Given the description of an element on the screen output the (x, y) to click on. 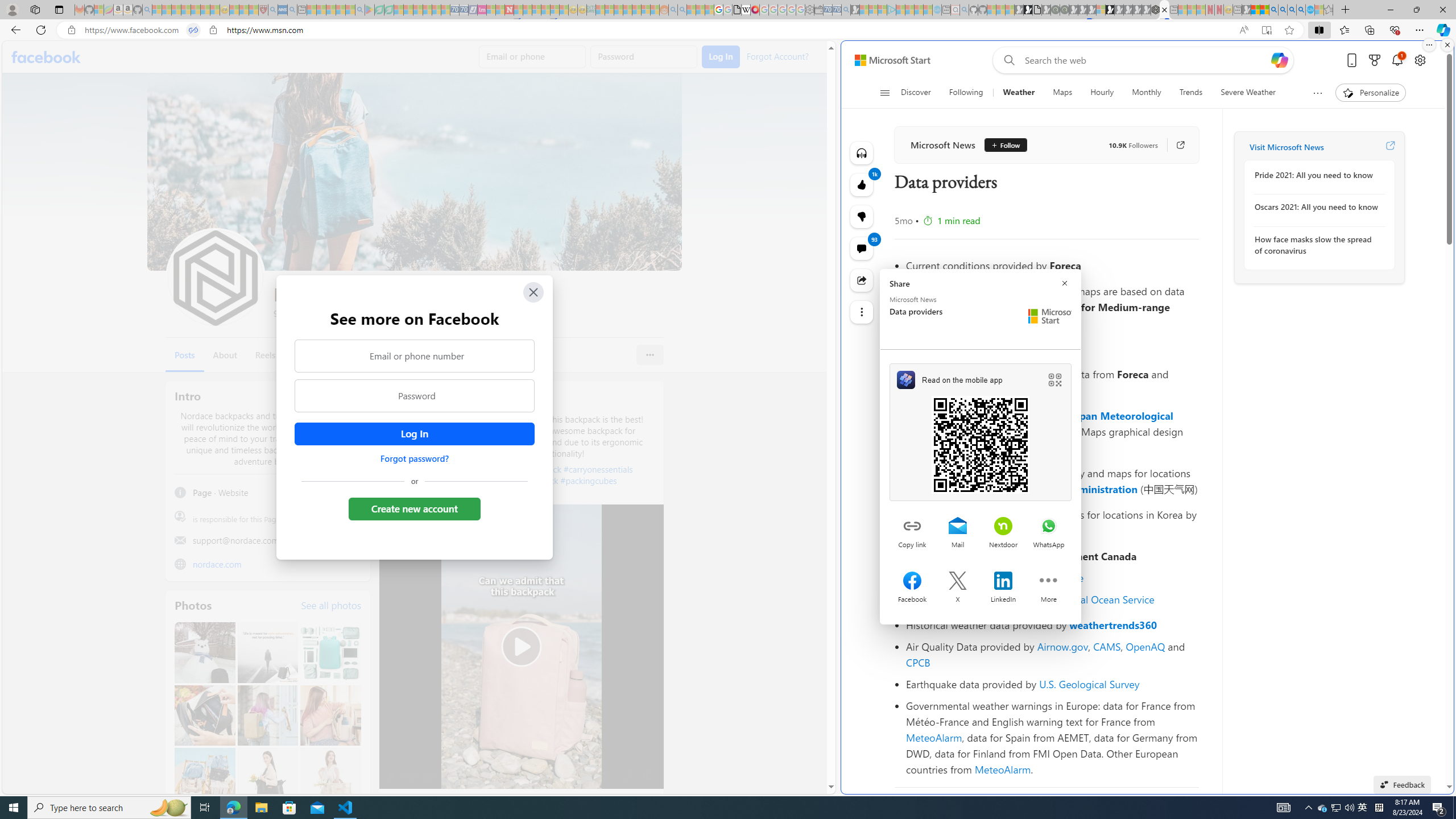
Severe Weather (1247, 92)
Trends (1190, 92)
Forgot password? (414, 458)
Microsoft Start Logo (1049, 315)
CPCB (917, 662)
Monthly (1146, 92)
